Given the description of an element on the screen output the (x, y) to click on. 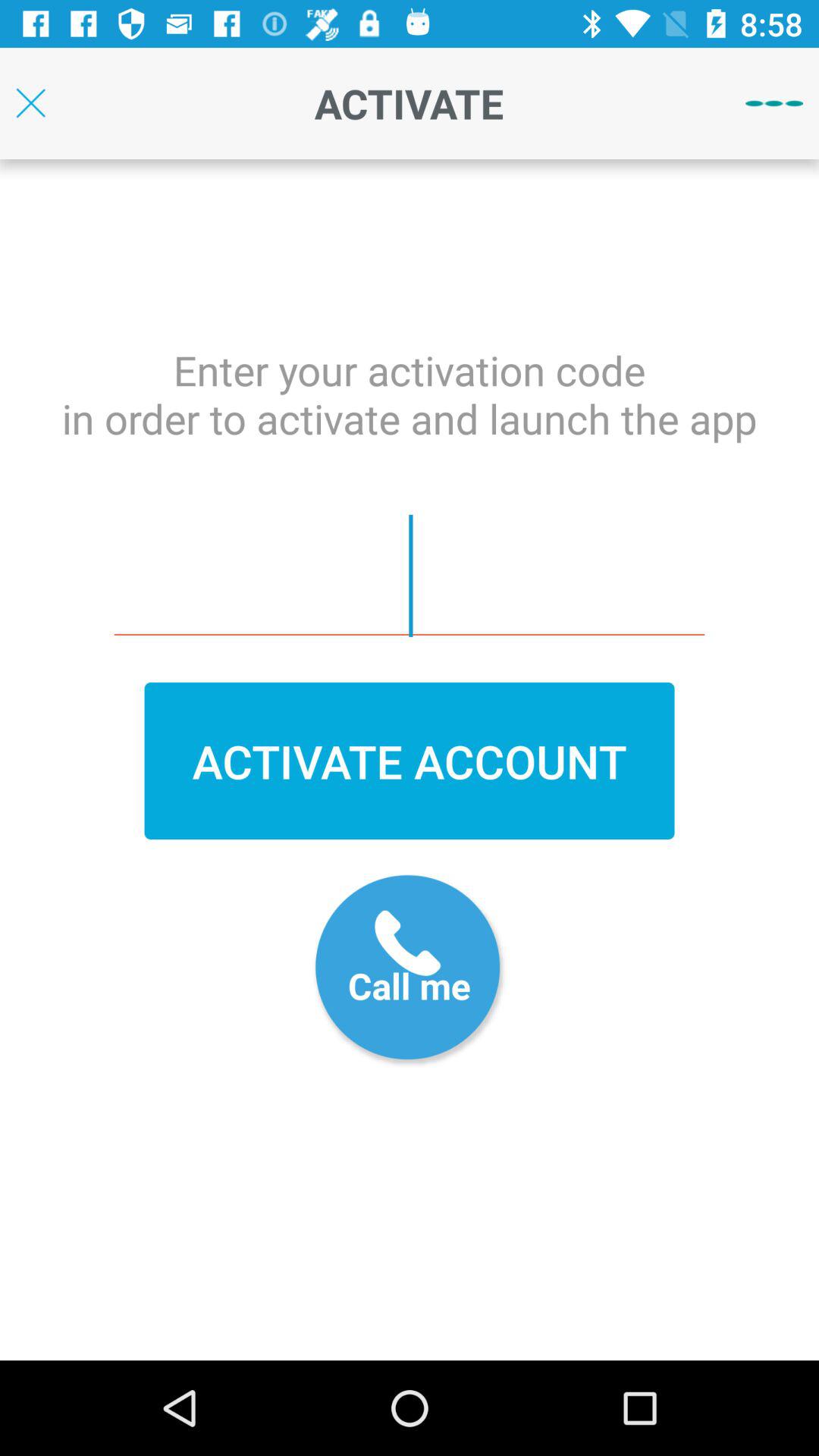
open settings and options (774, 103)
